Given the description of an element on the screen output the (x, y) to click on. 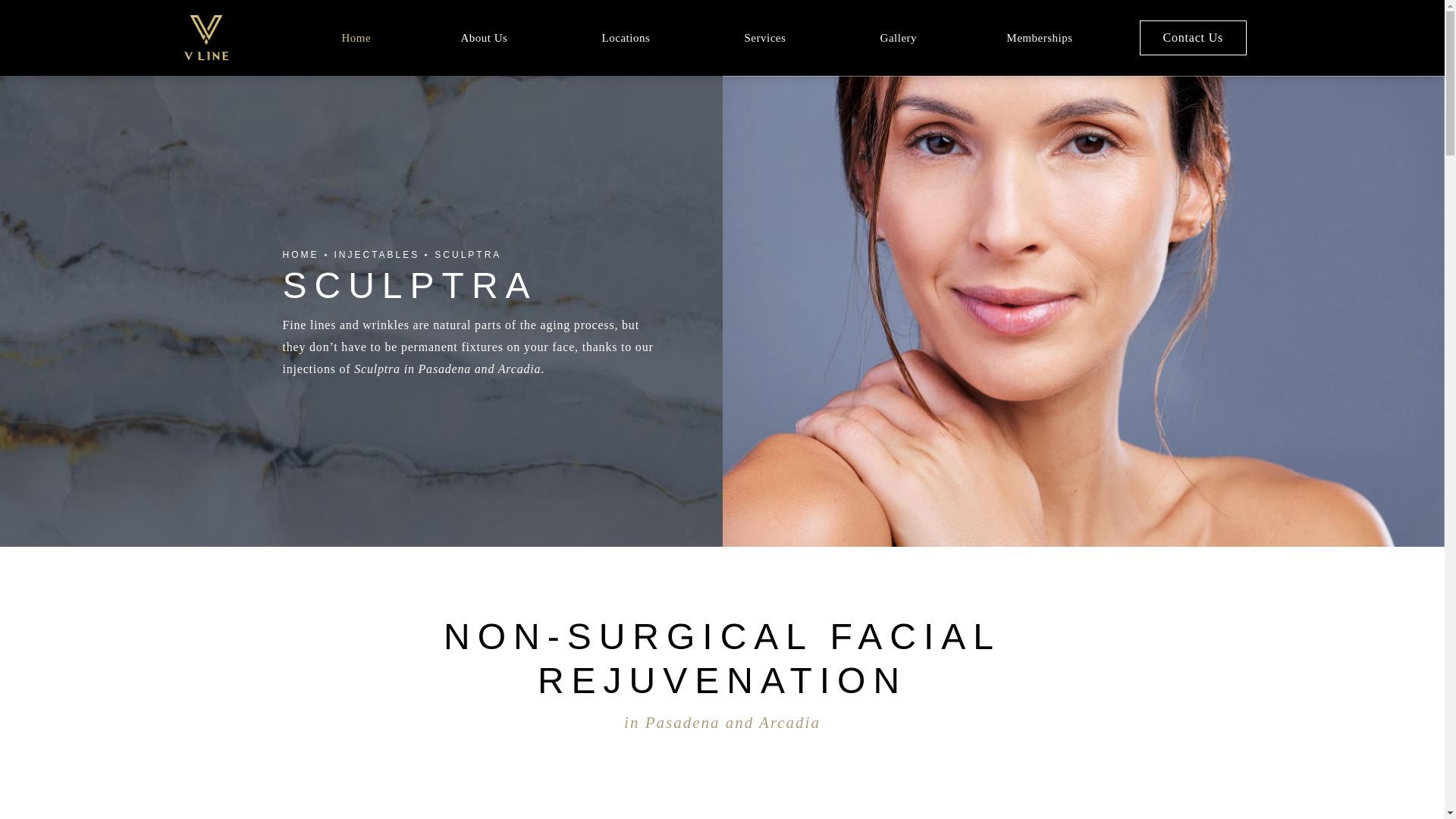
Locations (628, 36)
Home (355, 36)
About Us (485, 36)
Services (766, 36)
